Given the description of an element on the screen output the (x, y) to click on. 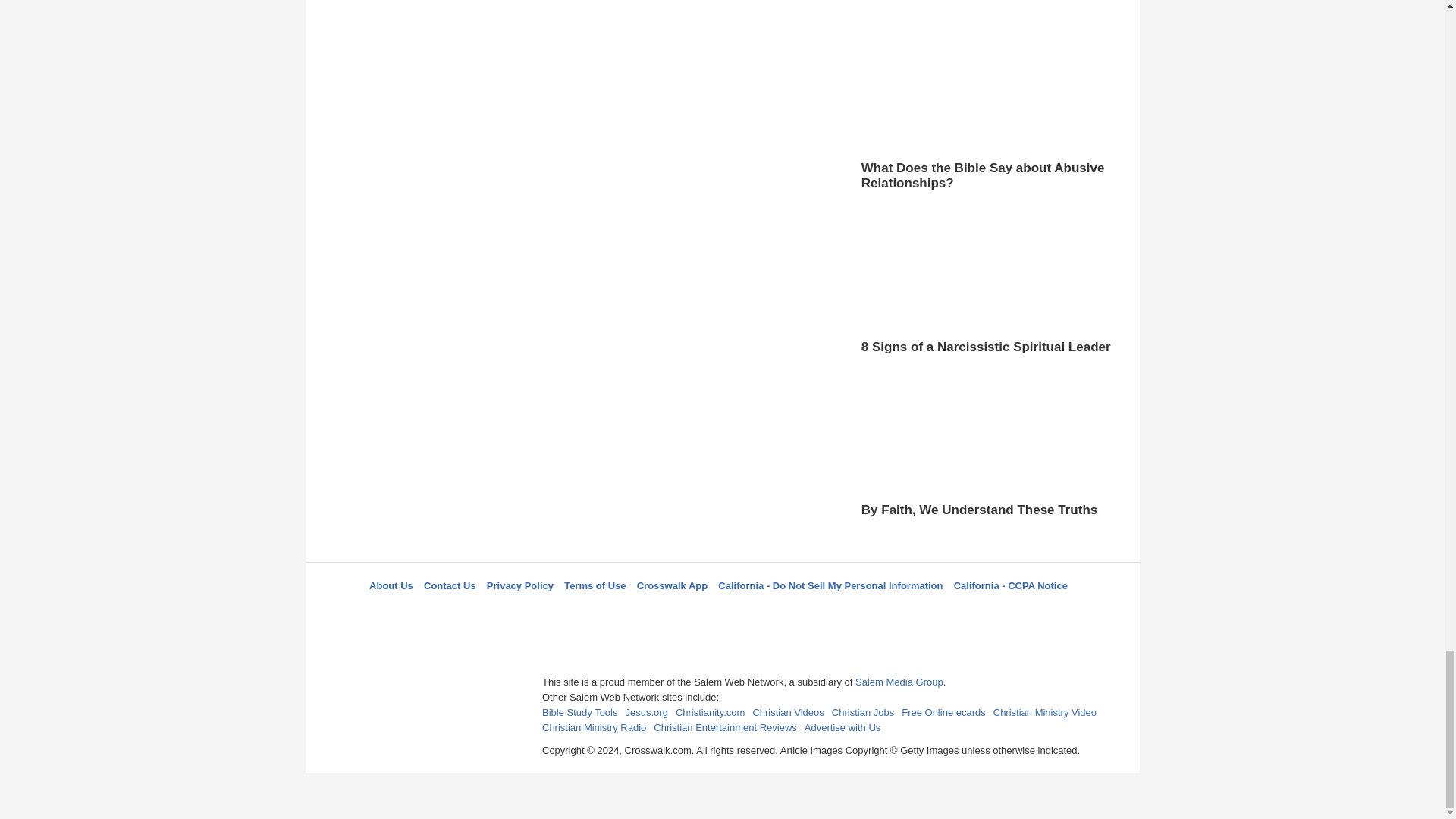
YouTube (795, 612)
LifeAudio (719, 612)
Pinterest (757, 612)
Facebook (645, 612)
Twitter (683, 612)
